Given the description of an element on the screen output the (x, y) to click on. 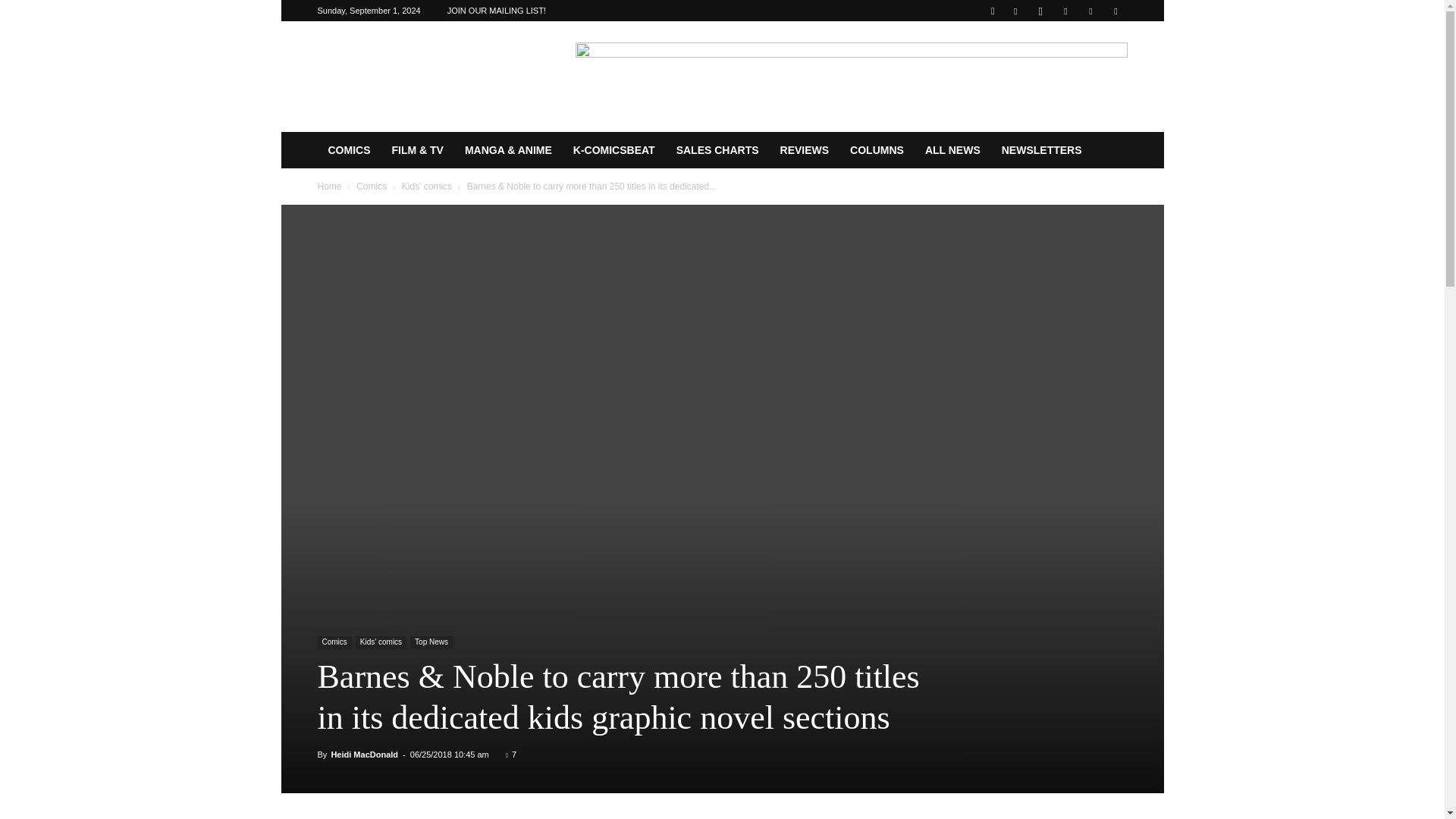
COMICS (348, 149)
SALES CHARTS (717, 149)
Facebook (1015, 10)
View all posts in Comics (371, 185)
Twitter (1090, 10)
NEWSLETTERS (1042, 149)
Search (1085, 64)
RSS (1065, 10)
Youtube (1114, 10)
REVIEWS (805, 149)
